Given the description of an element on the screen output the (x, y) to click on. 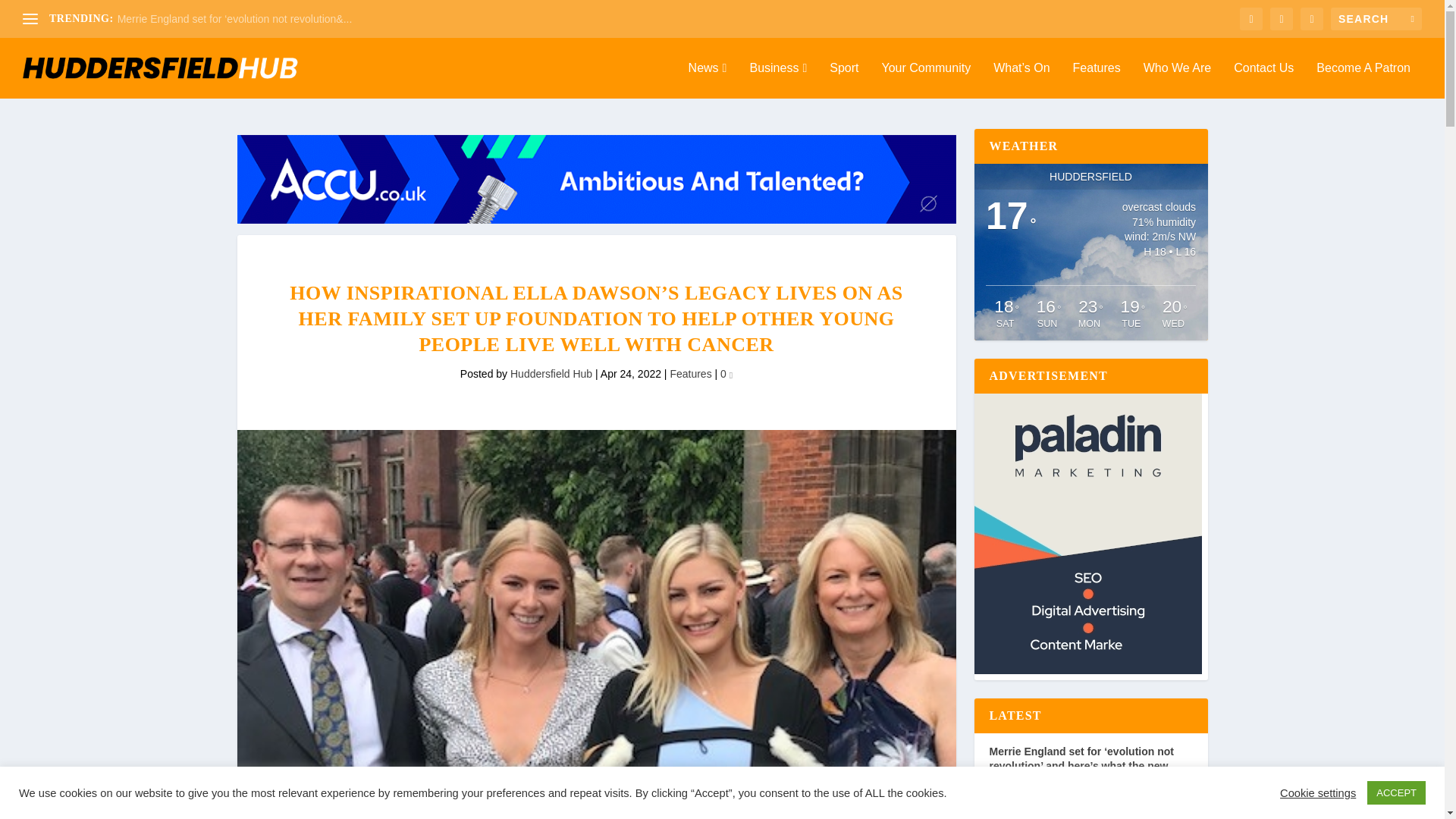
Posts by Huddersfield Hub (551, 373)
Business (777, 80)
Contact Us (1263, 80)
Become A Patron (1363, 80)
Search for: (1376, 18)
Who We Are (1176, 80)
News (707, 80)
Your Community (925, 80)
Features (1097, 80)
